Given the description of an element on the screen output the (x, y) to click on. 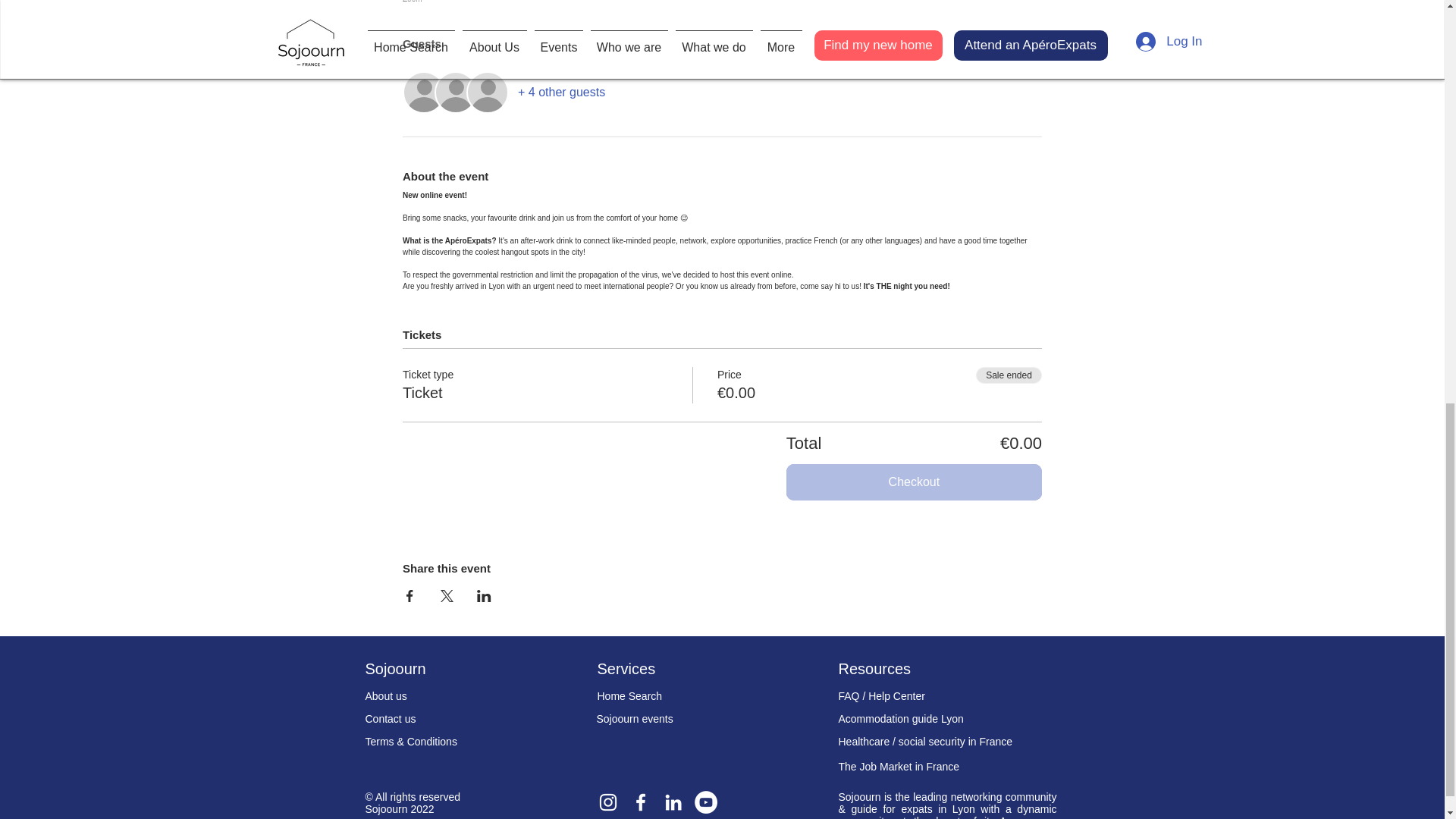
Contact us (390, 718)
Checkout (914, 482)
About us (386, 695)
Home Search (629, 695)
Sojoourn events (633, 718)
